Given the description of an element on the screen output the (x, y) to click on. 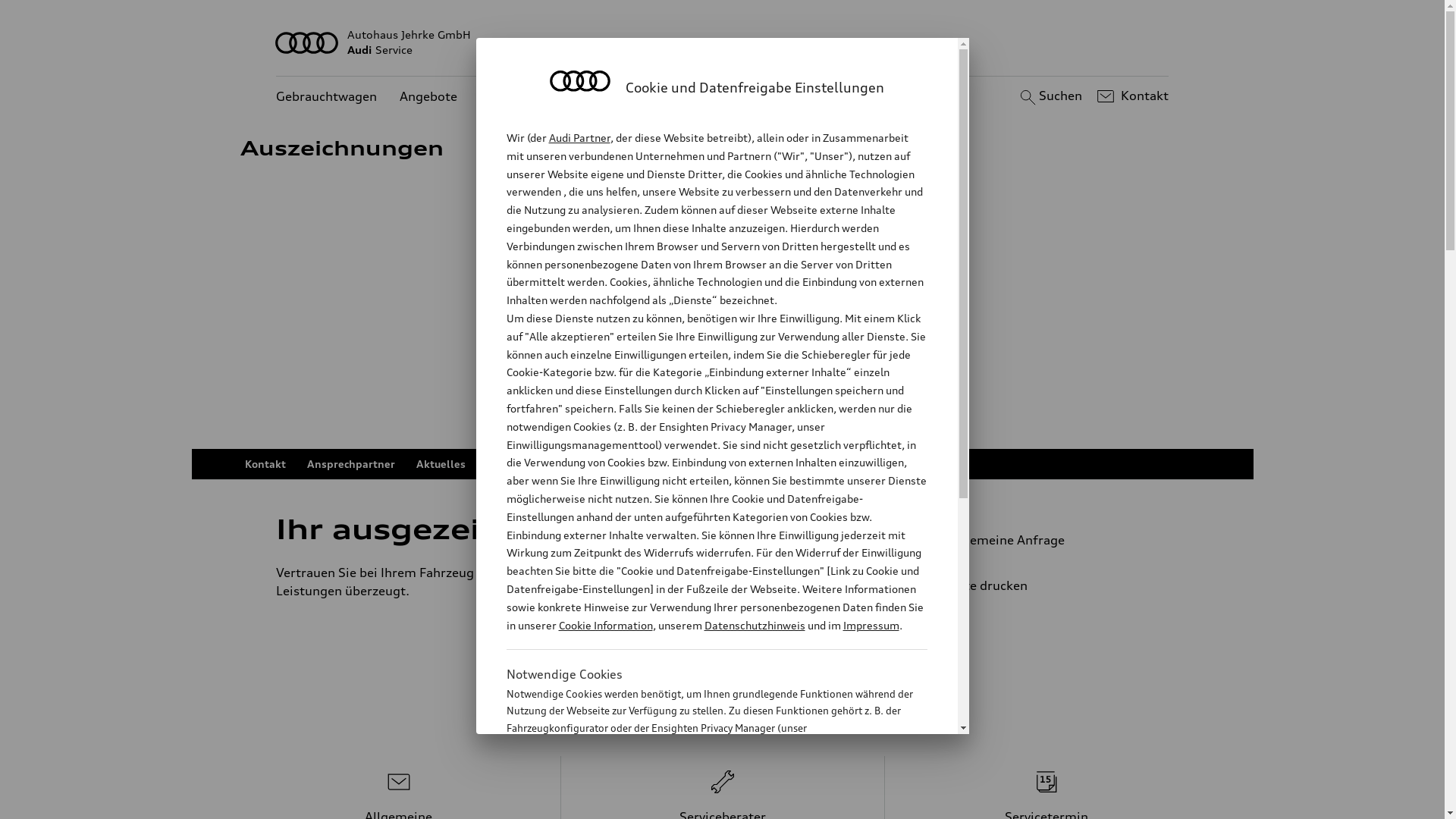
Autohaus Jehrke GmbH
AudiService Element type: text (722, 42)
Auszeichnungen Element type: text (528, 463)
Kontakt Element type: text (264, 463)
Kundenservice Element type: text (523, 96)
Online Shop Element type: text (730, 463)
Aktuelles Element type: text (439, 463)
Impressum Element type: text (871, 624)
Ansprechpartner Element type: text (349, 463)
Gebrauchtwagen Element type: text (326, 96)
Angebote Element type: text (428, 96)
Allgemeine Anfrage Element type: text (1038, 539)
Karriere Element type: text (804, 463)
Suchen Element type: text (1049, 96)
Datenschutzhinweis Element type: text (753, 624)
Veranstaltungen Element type: text (634, 463)
Cookie Information Element type: text (605, 624)
Audi Partner Element type: text (579, 137)
Cookie Information Element type: text (700, 802)
Seite drucken Element type: text (1044, 585)
Kontakt Element type: text (1130, 96)
